Given the description of an element on the screen output the (x, y) to click on. 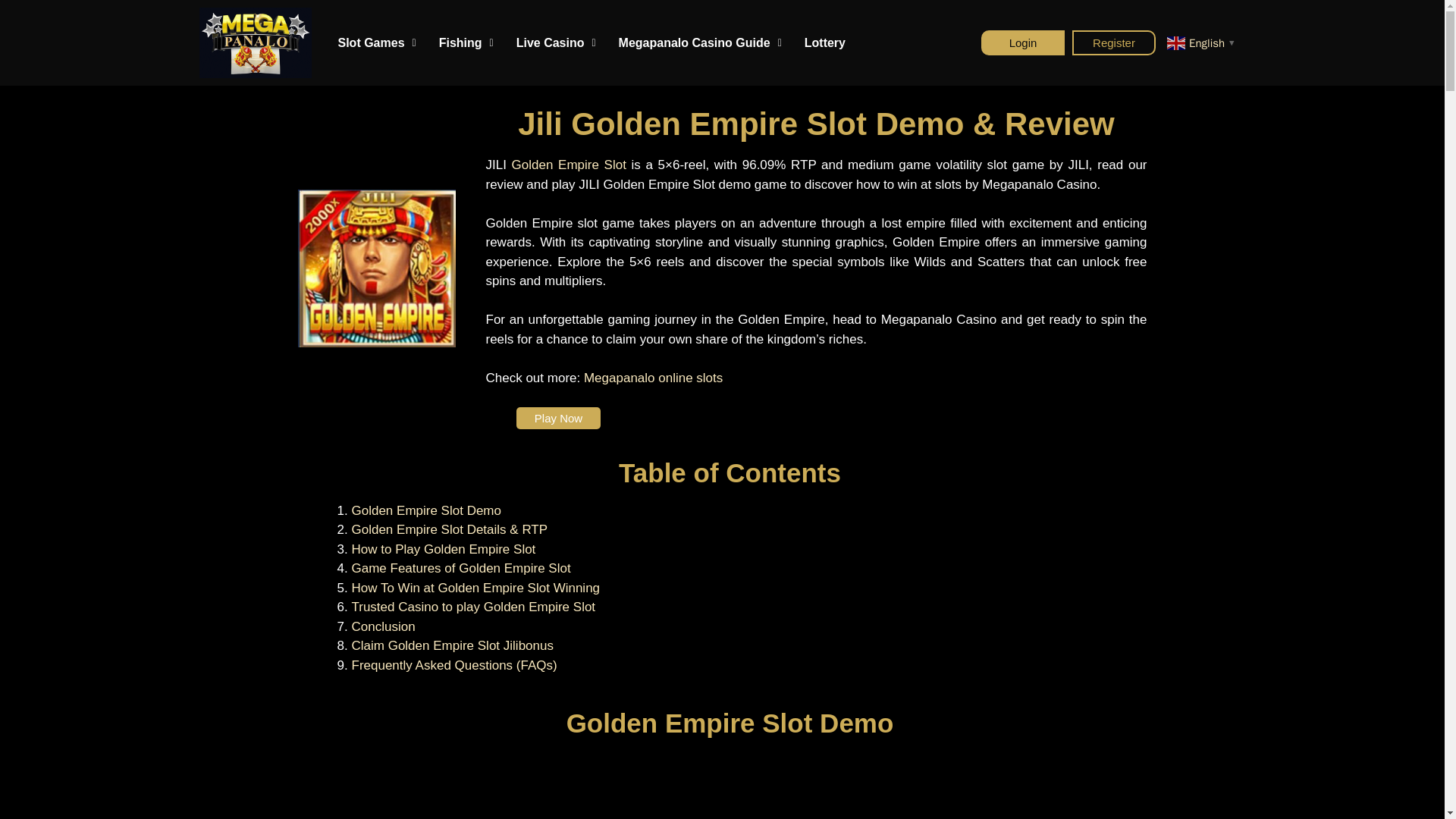
Slot Games (376, 42)
Fishing (466, 42)
